Given the description of an element on the screen output the (x, y) to click on. 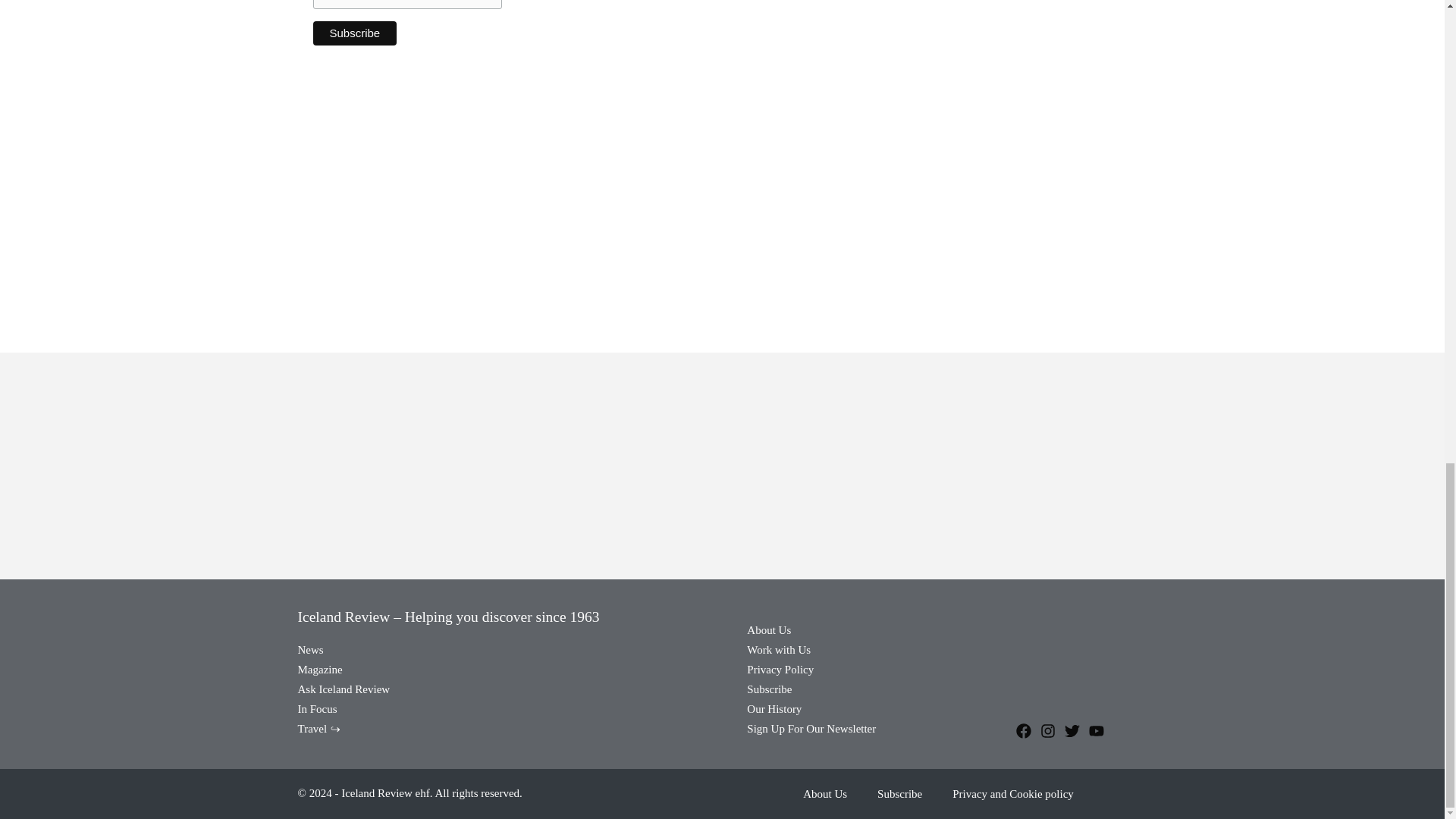
Subscribe (354, 33)
